Given the description of an element on the screen output the (x, y) to click on. 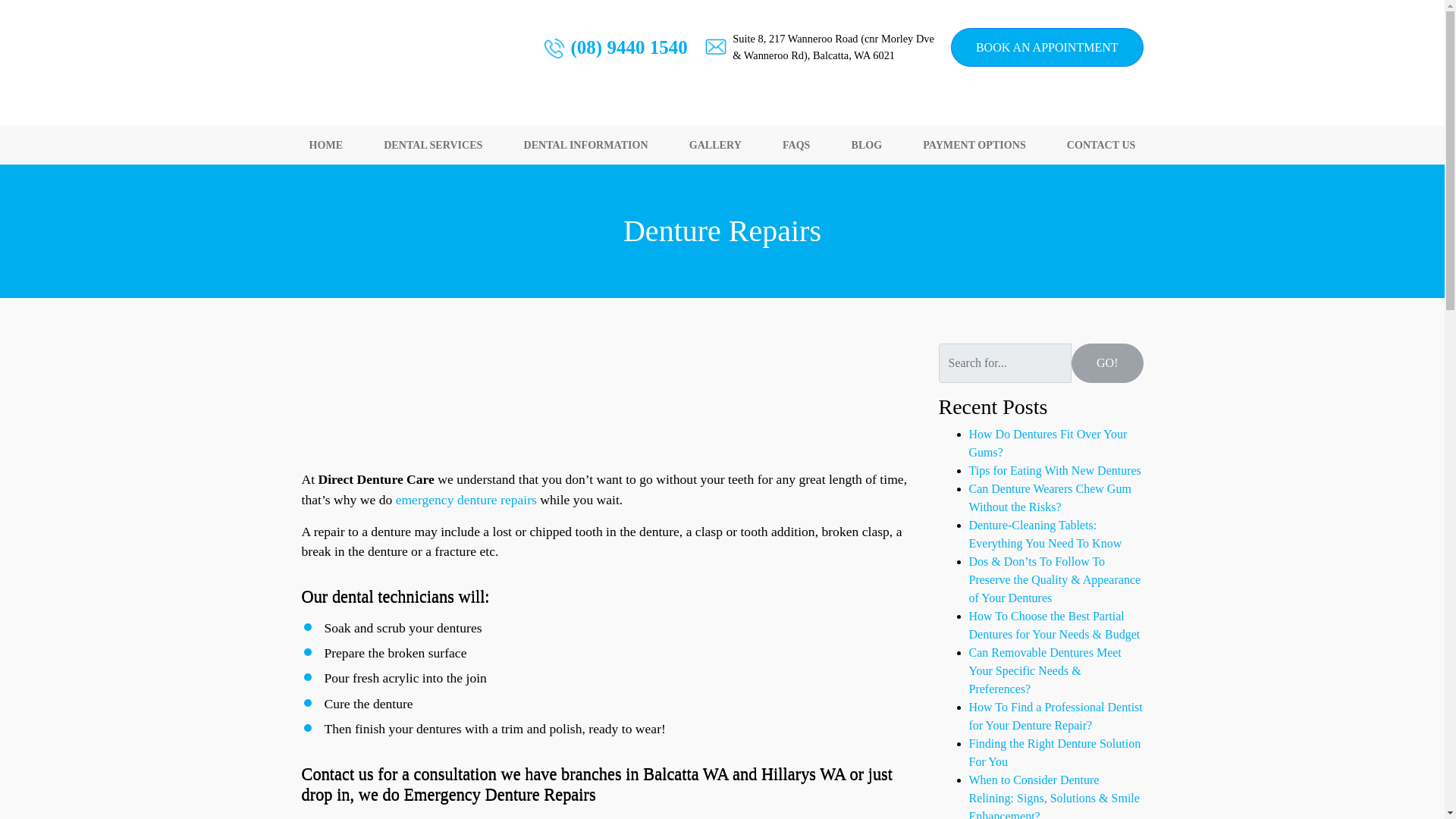
DENTAL SERVICES (432, 145)
CONTACT US (1100, 145)
Finding the Right Denture Solution For You (1055, 752)
HOME (325, 145)
Denture-Cleaning Tablets: Everything You Need To Know (1045, 533)
BLOG (866, 145)
How To Find a Professional Dentist for Your Denture Repair? (1055, 716)
GO! (1106, 363)
FAQS (796, 145)
How Do Dentures Fit Over Your Gums? (1047, 442)
Can Denture Wearers Chew Gum Without the Risks? (1050, 497)
GALLERY (715, 145)
BOOK AN APPOINTMENT (1046, 47)
PAYMENT OPTIONS (973, 145)
